Given the description of an element on the screen output the (x, y) to click on. 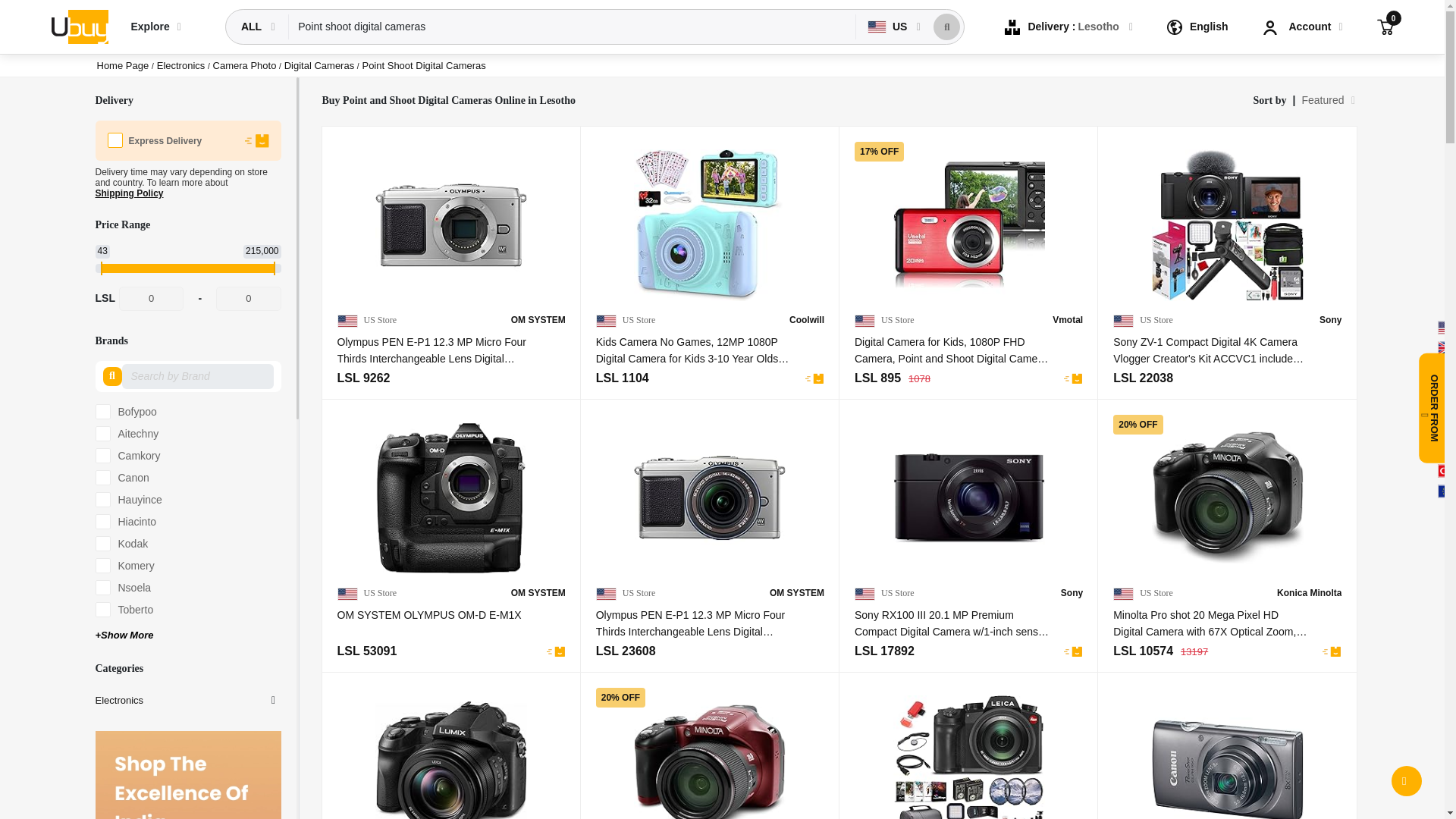
US (888, 26)
Point shoot digital cameras (572, 26)
Ubuy (78, 26)
0 (248, 298)
ALL (253, 26)
0 (1385, 26)
0 (151, 298)
